Given the description of an element on the screen output the (x, y) to click on. 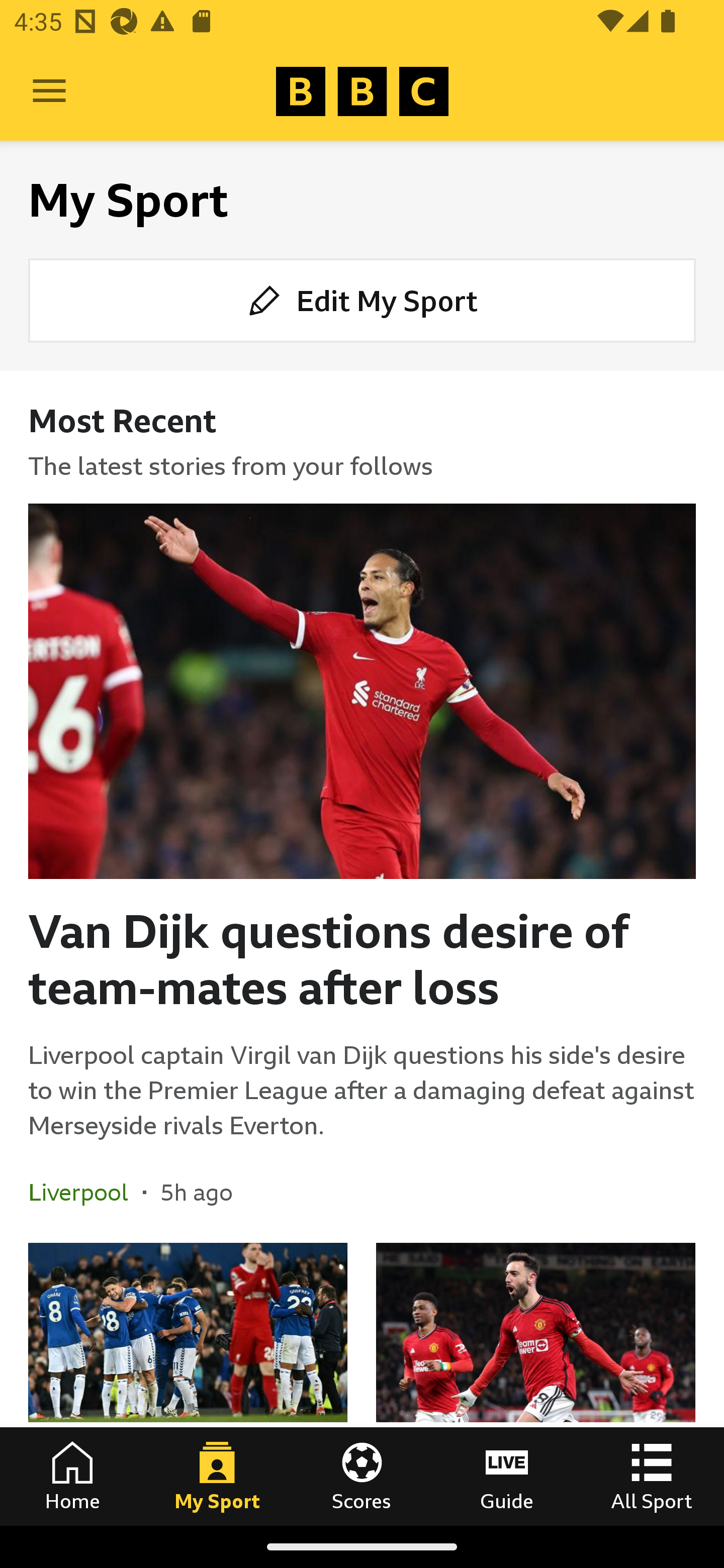
Open Menu (49, 91)
Edit My Sport (361, 300)
Liverpool In the section Liverpool (85, 1192)
Man Utd fight back twice to beat Sheff Utd late on (535, 1384)
Home (72, 1475)
Scores (361, 1475)
Guide (506, 1475)
All Sport (651, 1475)
